Given the description of an element on the screen output the (x, y) to click on. 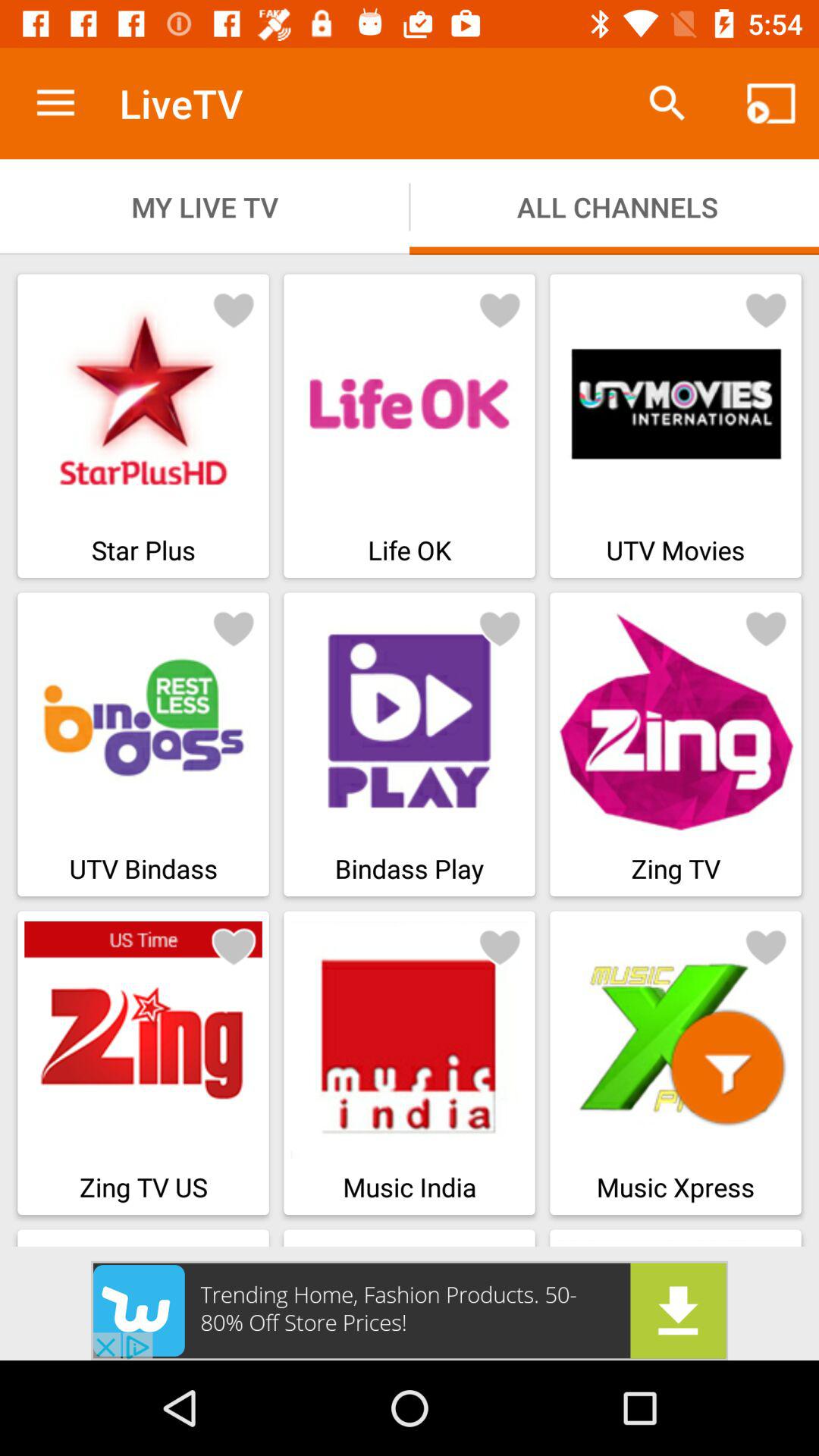
bookmark button (233, 309)
